Given the description of an element on the screen output the (x, y) to click on. 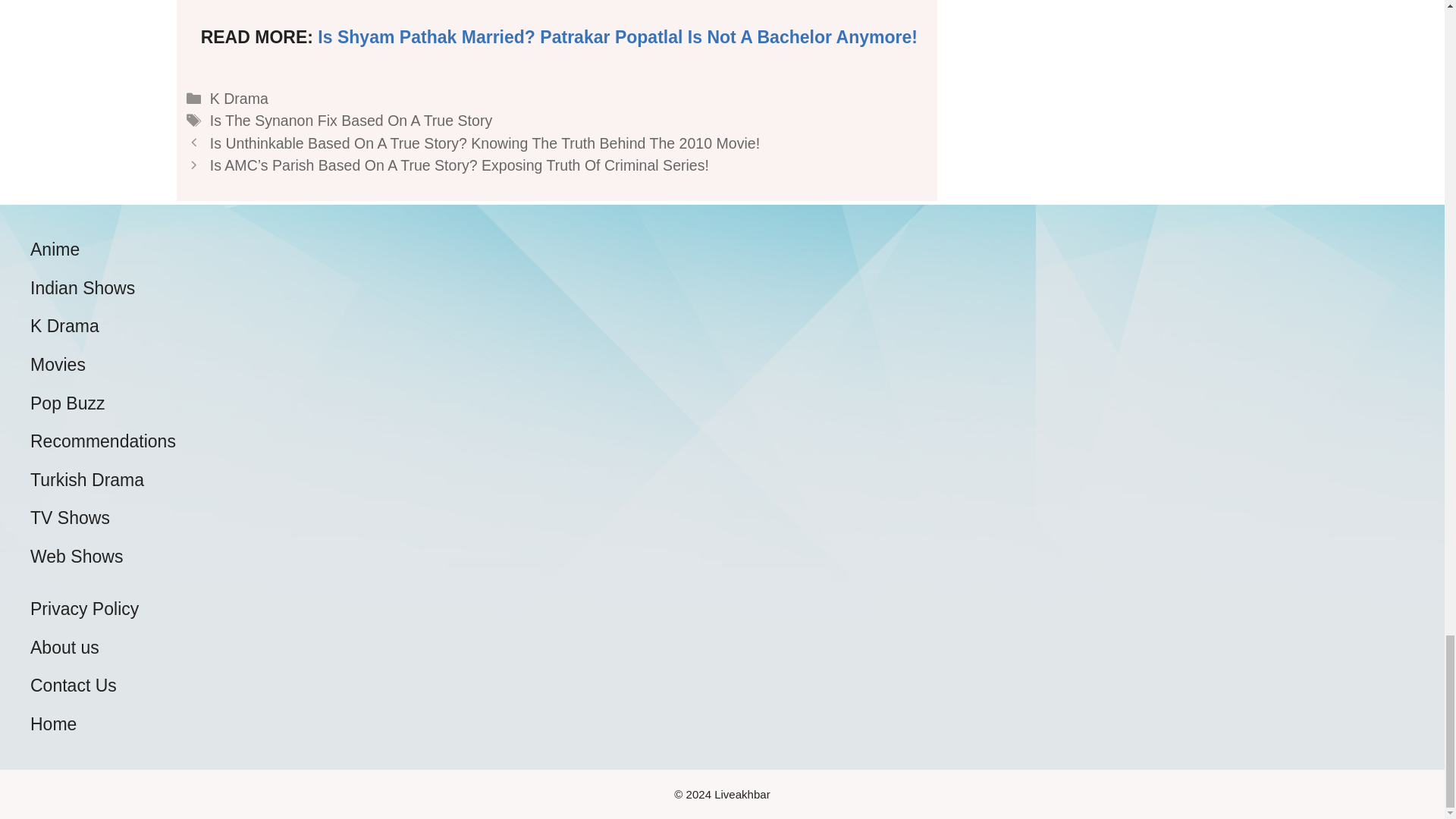
Anime (55, 249)
K Drama (238, 98)
Is The Synanon Fix Based On A True Story (350, 120)
